Given the description of an element on the screen output the (x, y) to click on. 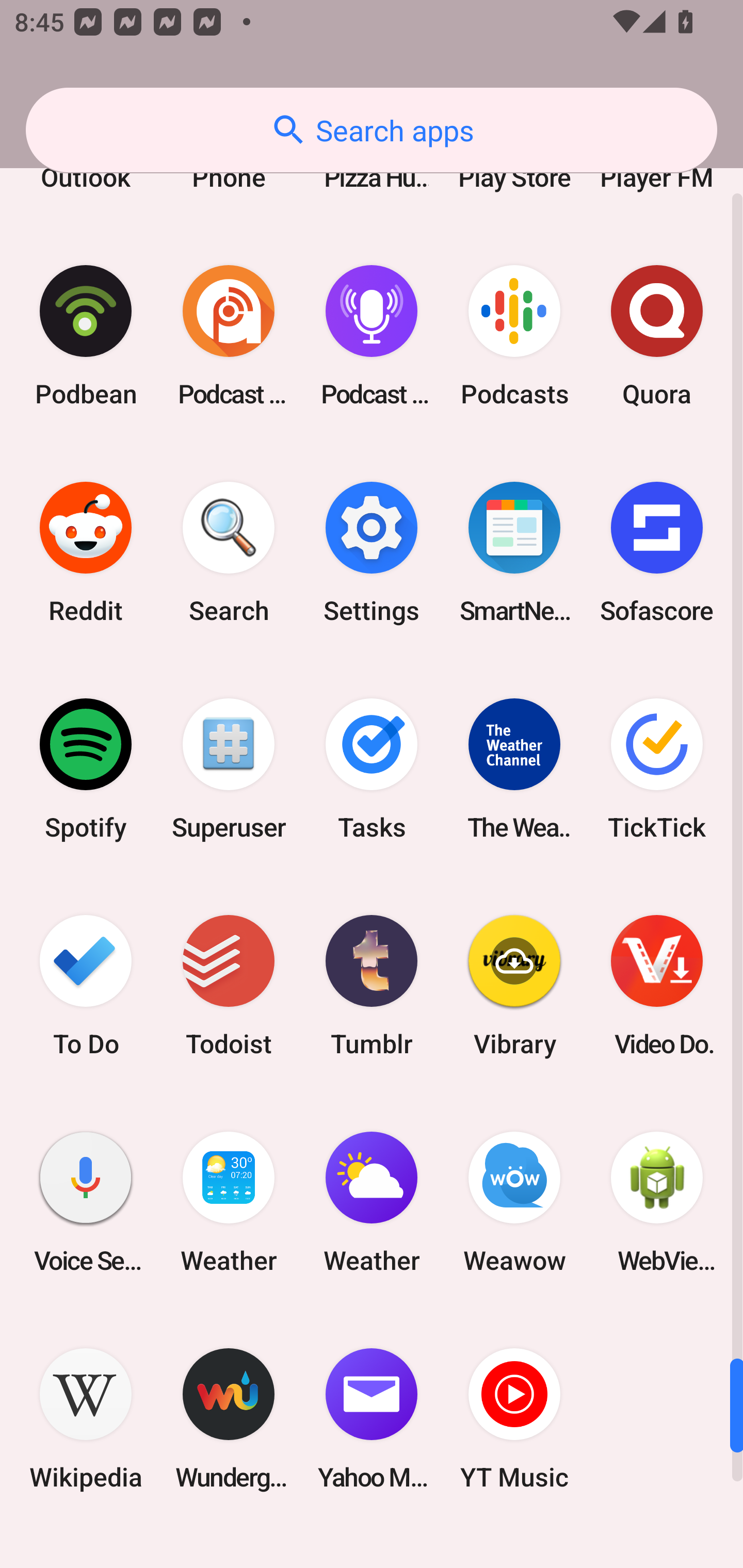
  Search apps (371, 130)
Podbean (85, 335)
Podcast Addict (228, 335)
Podcast Player (371, 335)
Podcasts (514, 335)
Quora (656, 335)
Reddit (85, 551)
Search (228, 551)
Settings (371, 551)
SmartNews (514, 551)
Sofascore (656, 551)
Spotify (85, 769)
Superuser (228, 769)
Tasks (371, 769)
The Weather Channel (514, 769)
TickTick (656, 769)
To Do (85, 986)
Todoist (228, 986)
Tumblr (371, 986)
Vibrary (514, 986)
Video Downloader & Ace Player (656, 986)
Voice Search (85, 1202)
Weather (228, 1202)
Weather (371, 1202)
Weawow (514, 1202)
WebView Browser Tester (656, 1202)
Wikipedia (85, 1418)
Wunderground (228, 1418)
Yahoo Mail (371, 1418)
YT Music (514, 1418)
